Given the description of an element on the screen output the (x, y) to click on. 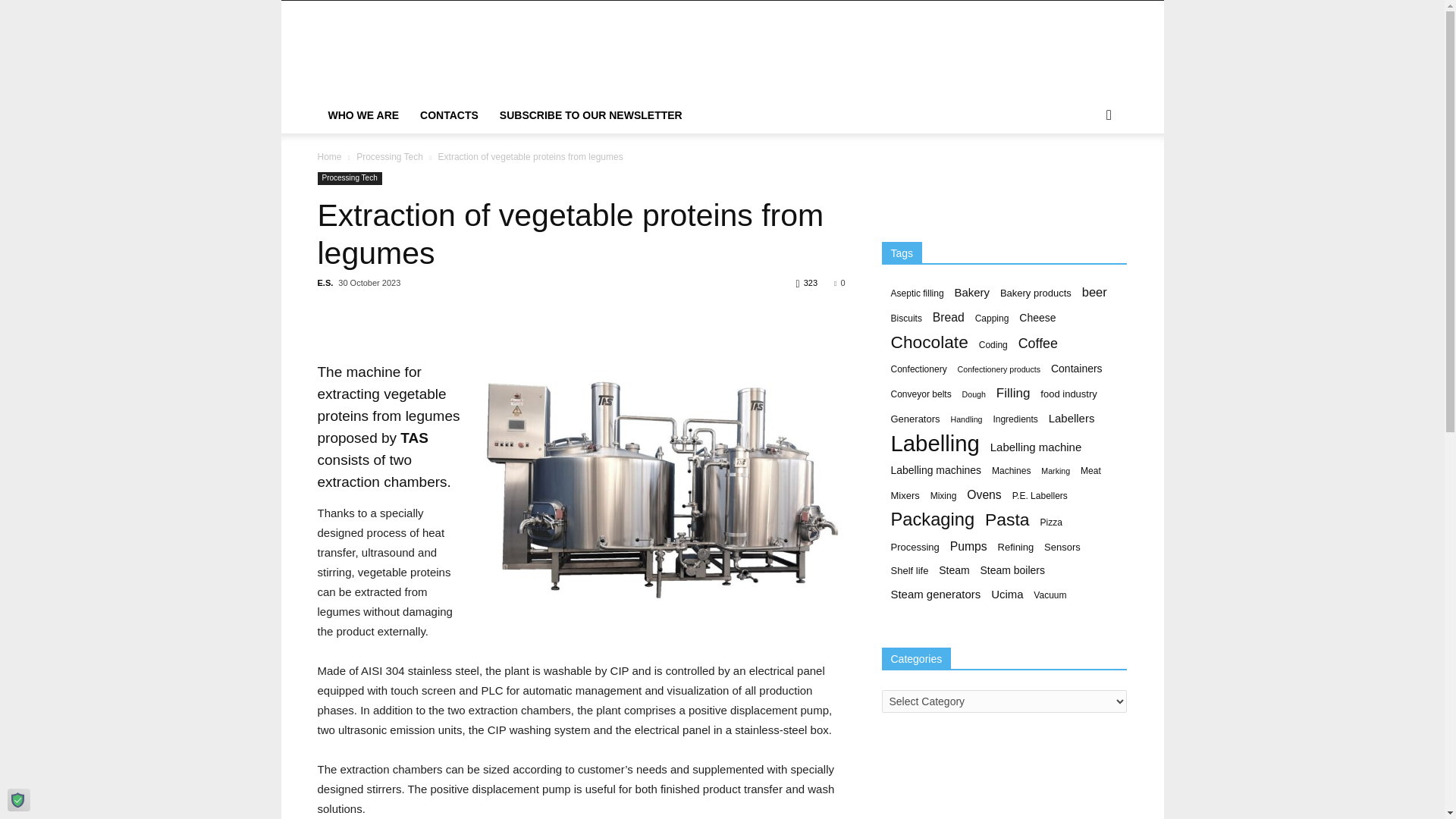
CONTACTS (449, 115)
Search (1085, 175)
SUBSCRIBE TO OUR NEWSLETTER (591, 115)
View all posts in Processing Tech (389, 156)
Processing Tech (389, 156)
E.S. (325, 282)
Posts by E.S. (325, 282)
Processing Tech (349, 178)
WHO WE ARE (363, 115)
Manage Consent (18, 799)
